Given the description of an element on the screen output the (x, y) to click on. 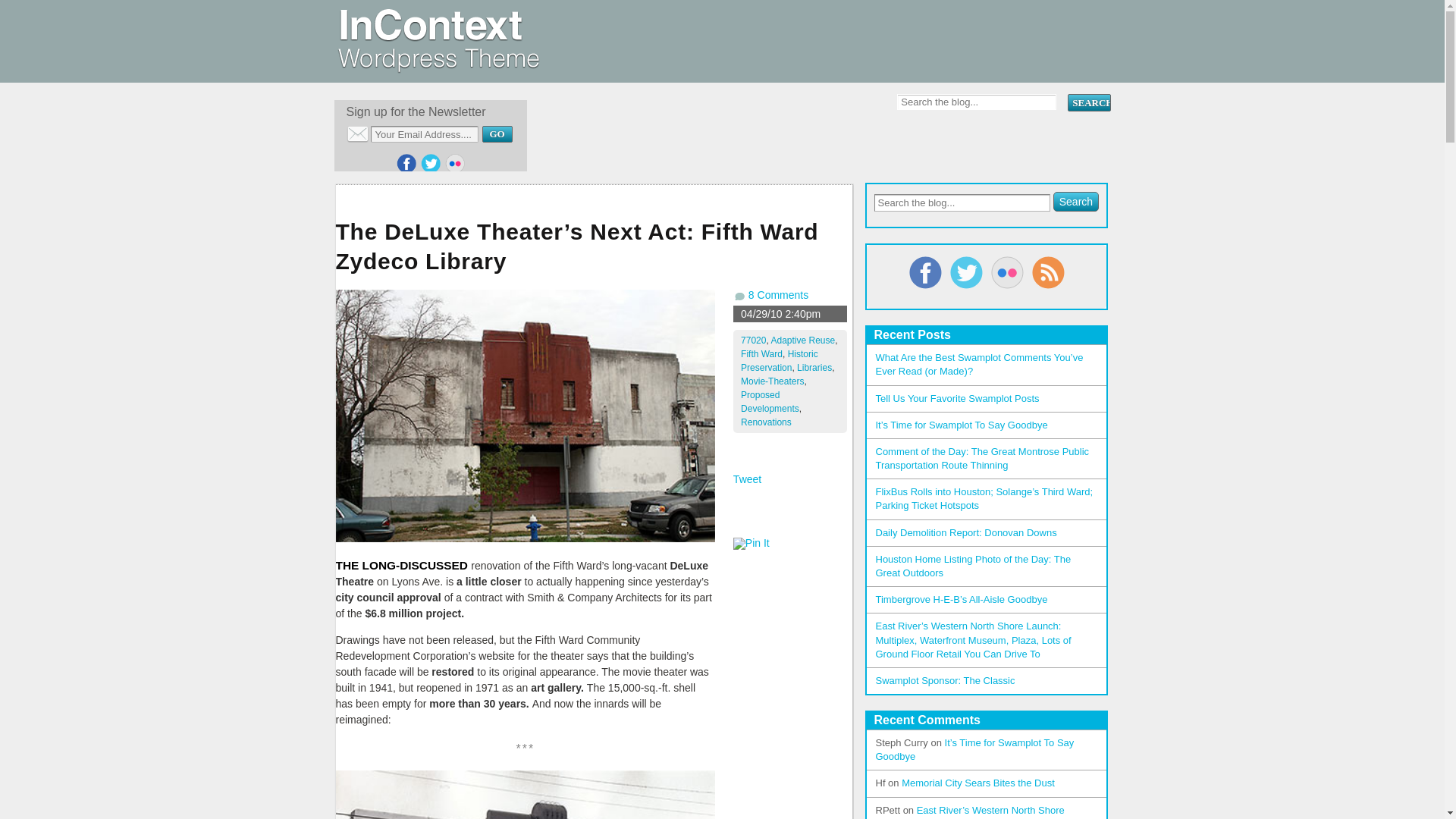
Search (1088, 102)
Search (1074, 201)
Historic Preservation (779, 360)
Fifth Ward (762, 353)
Search (1088, 102)
De Luxe Theater, 3300 Lyons Ave., Fifth Ward, Houston (524, 415)
GO (496, 134)
8 Comments (778, 295)
Adaptive Reuse (802, 339)
Libraries (813, 367)
Follow us on Twitter (430, 163)
GO (496, 134)
See us on Flickr (454, 163)
Like us on Facebook (406, 163)
